Given the description of an element on the screen output the (x, y) to click on. 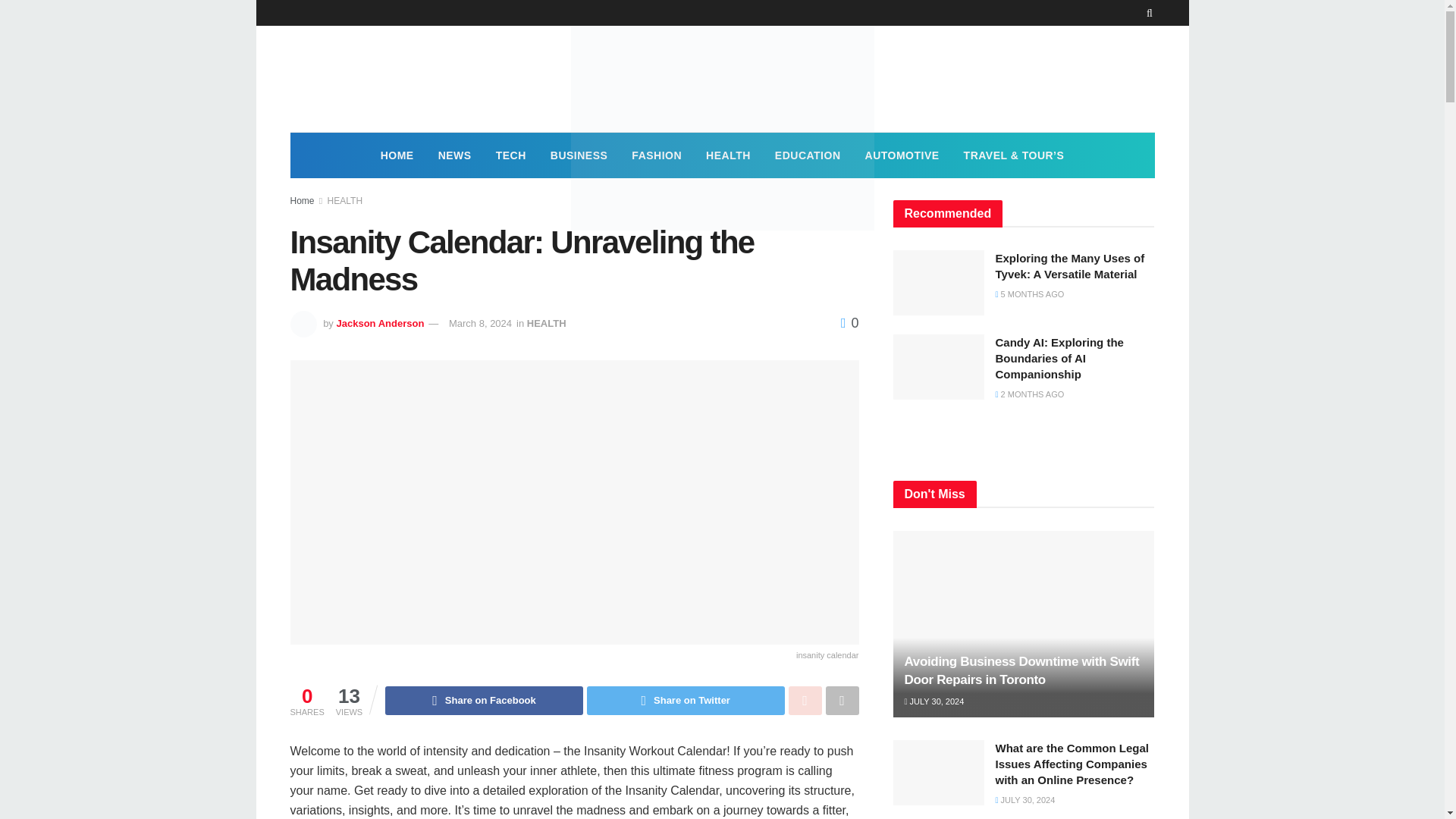
HOME (397, 155)
AUTOMOTIVE (902, 155)
Share on Facebook (484, 700)
0 (850, 322)
Jackson Anderson (379, 323)
TECH (510, 155)
HEALTH (728, 155)
EDUCATION (807, 155)
HEALTH (344, 200)
FASHION (657, 155)
BUSINESS (579, 155)
Home (301, 200)
Share on Twitter (685, 700)
NEWS (454, 155)
